Given the description of an element on the screen output the (x, y) to click on. 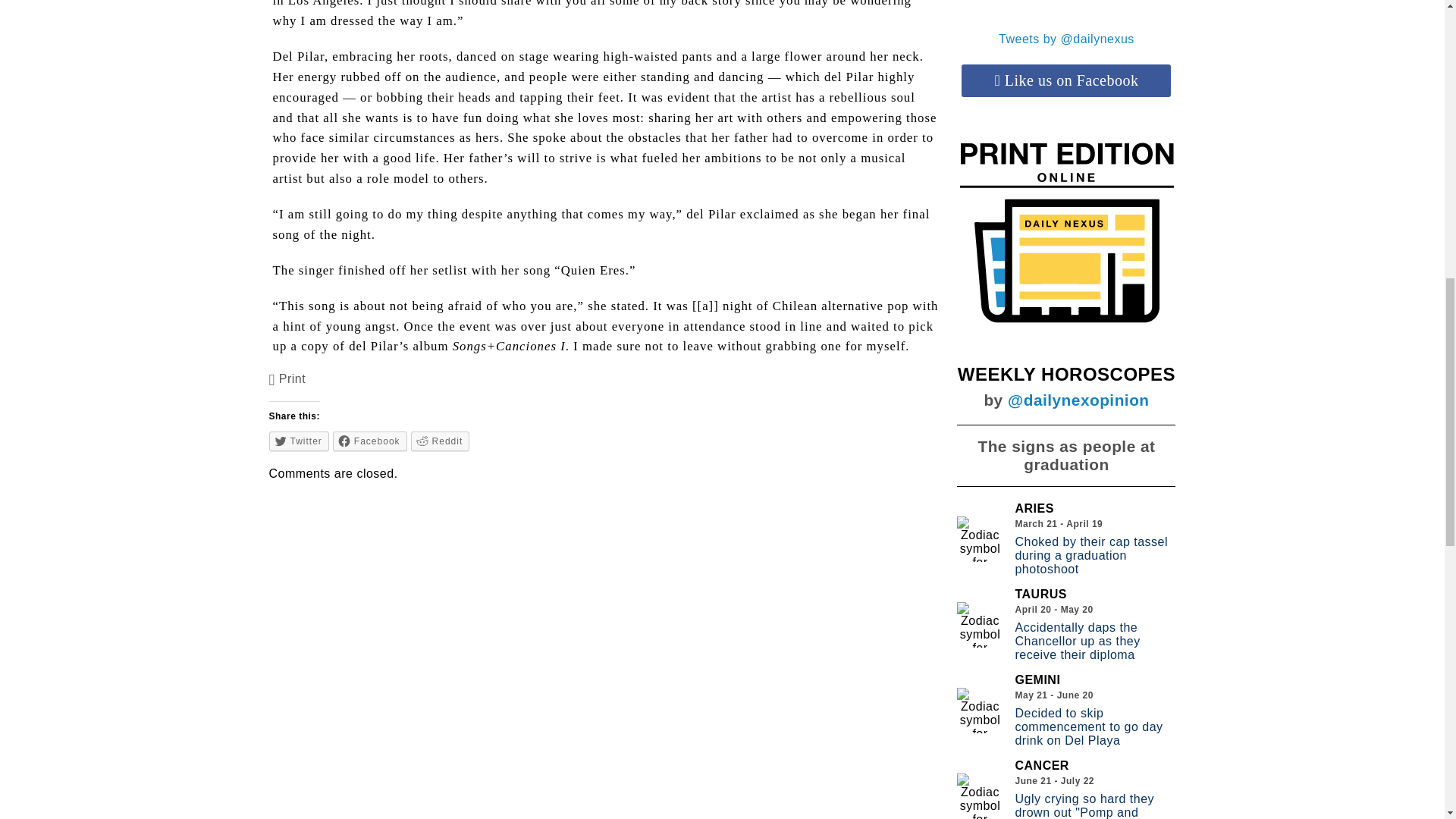
Click to share on Facebook (370, 441)
Click to share on Reddit (440, 441)
Click to share on Twitter (299, 441)
